Given the description of an element on the screen output the (x, y) to click on. 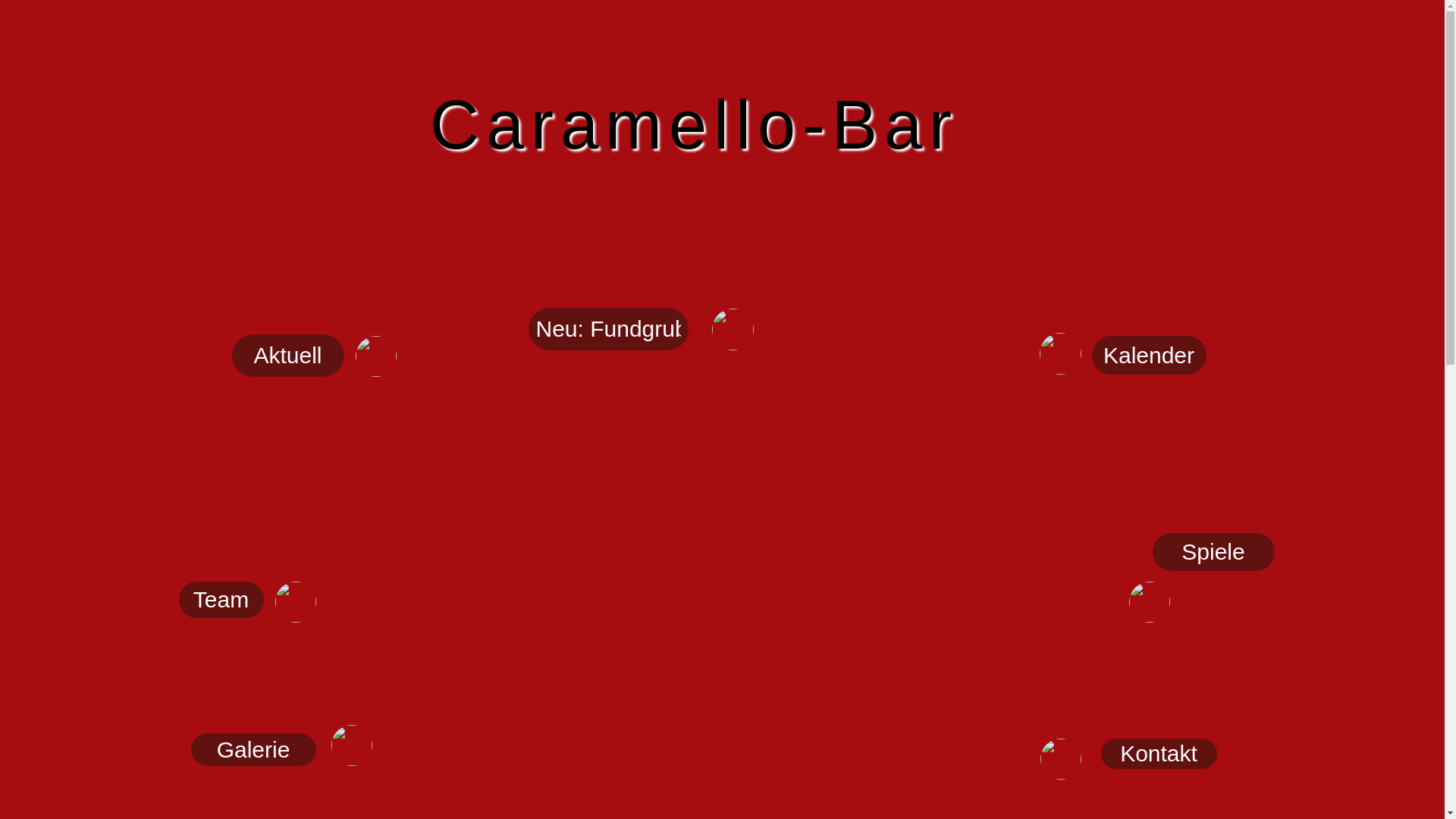
Neu: Fundgrube Element type: text (607, 328)
Kontakt Element type: text (1159, 753)
Spiele Element type: text (1213, 552)
Team Element type: text (220, 599)
Kalender Element type: text (1149, 354)
Galerie Element type: text (253, 749)
Aktuell Element type: text (288, 355)
